Given the description of an element on the screen output the (x, y) to click on. 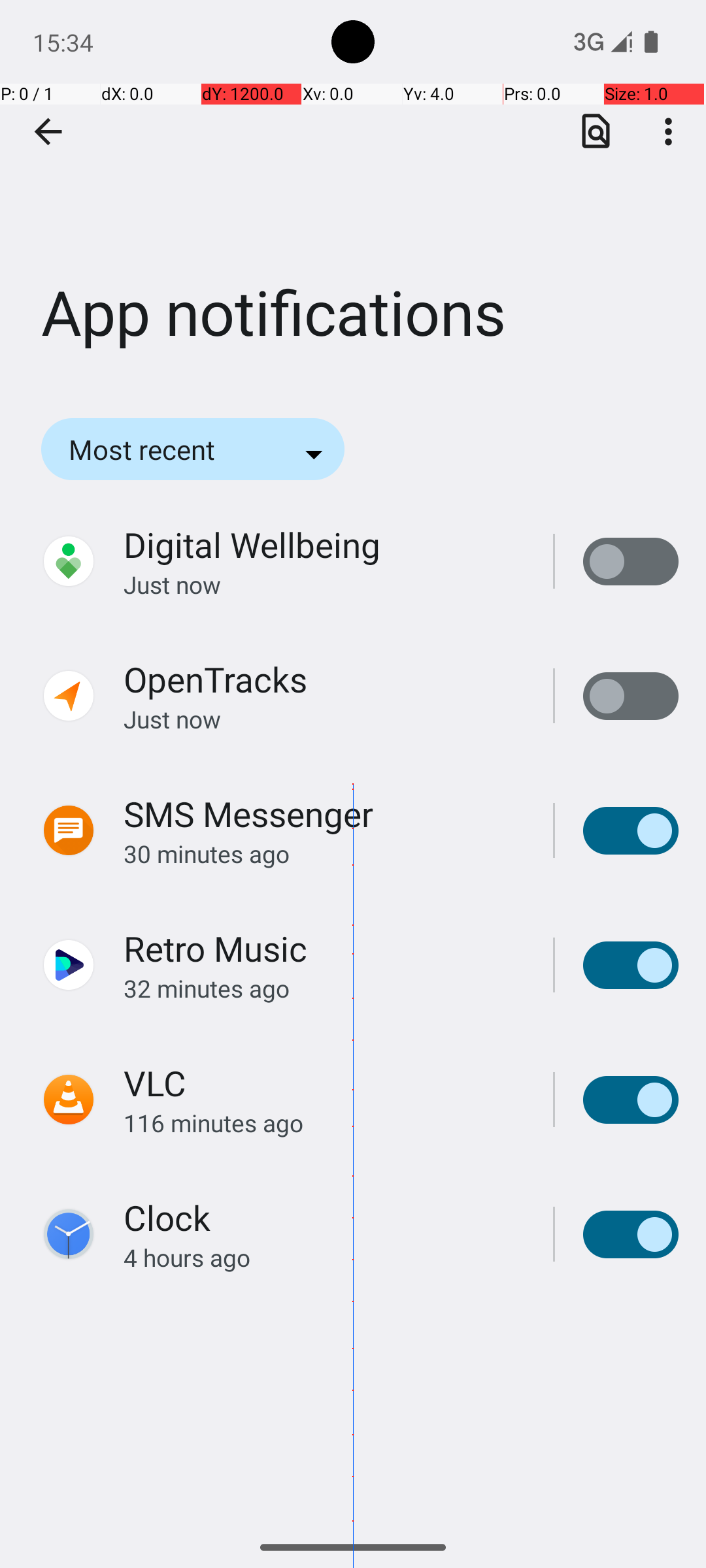
App notifications Element type: android.widget.FrameLayout (353, 195)
Most recent Element type: android.widget.TextView (159, 448)
Digital Wellbeing Element type: android.widget.TextView (252, 544)
Just now Element type: android.widget.TextView (324, 584)
30 minutes ago Element type: android.widget.TextView (324, 853)
32 minutes ago Element type: android.widget.TextView (324, 987)
116 minutes ago Element type: android.widget.TextView (324, 1122)
4 hours ago Element type: android.widget.TextView (324, 1257)
